Given the description of an element on the screen output the (x, y) to click on. 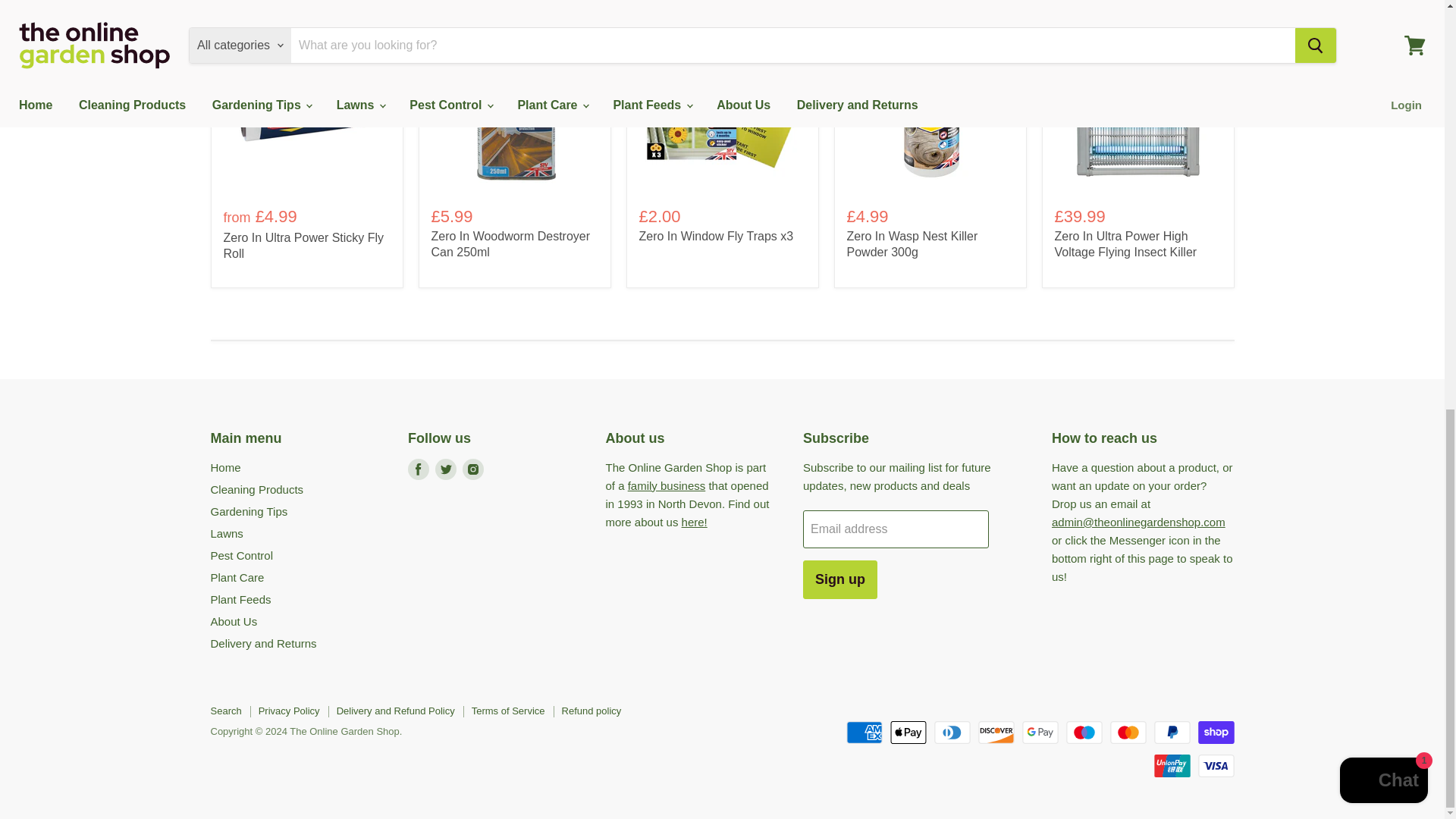
Facebook (418, 468)
Email Us (1138, 521)
About Us, Contact Form and Policies (694, 521)
Value House Stores (666, 485)
Instagram (473, 468)
Twitter (446, 468)
